Given the description of an element on the screen output the (x, y) to click on. 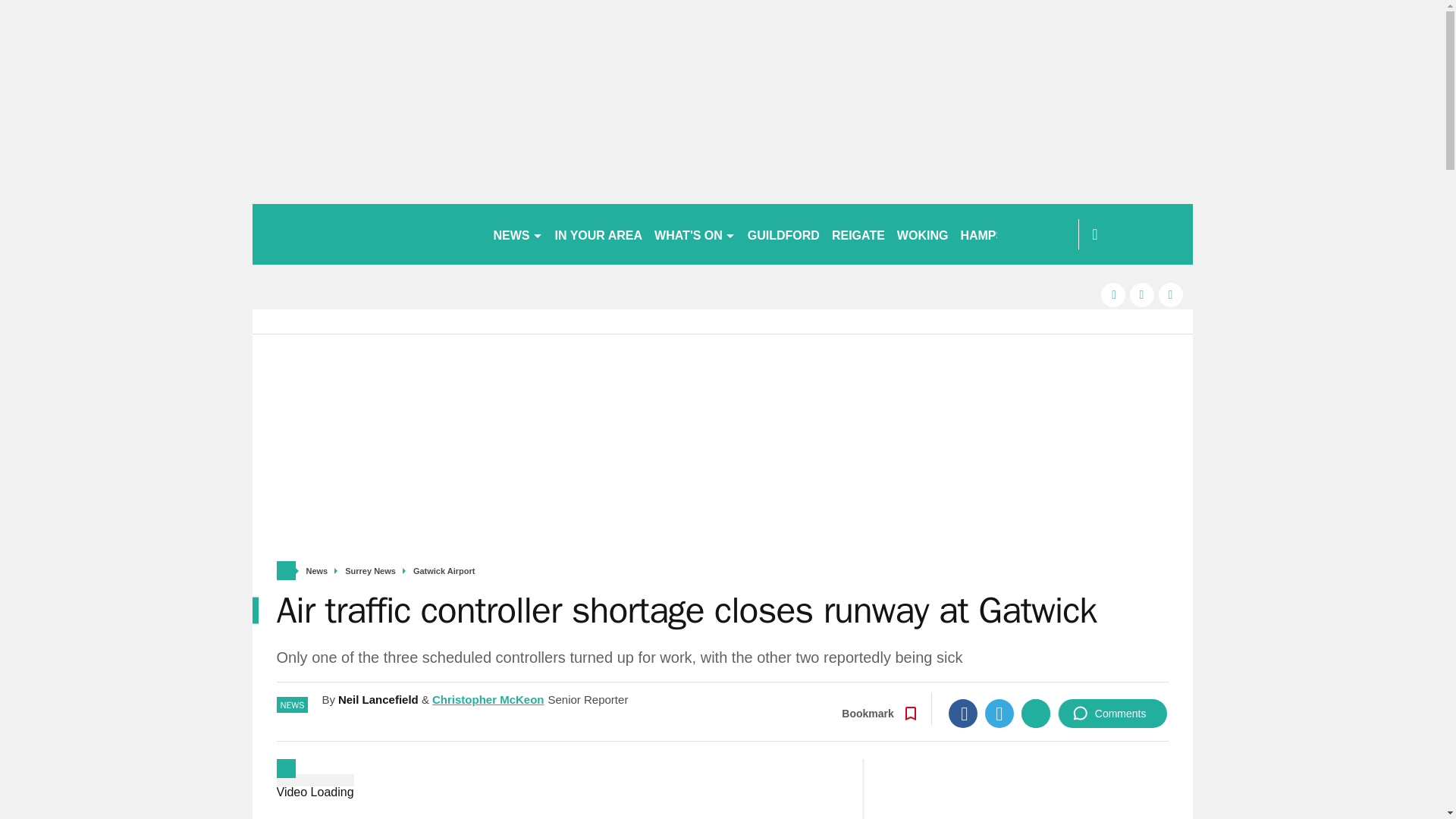
Facebook (962, 713)
REIGATE (858, 233)
Twitter (999, 713)
WOKING (923, 233)
WHAT'S ON (694, 233)
instagram (1170, 294)
NEWS (517, 233)
IN YOUR AREA (598, 233)
GUILDFORD (783, 233)
getsurrey (365, 233)
